Given the description of an element on the screen output the (x, y) to click on. 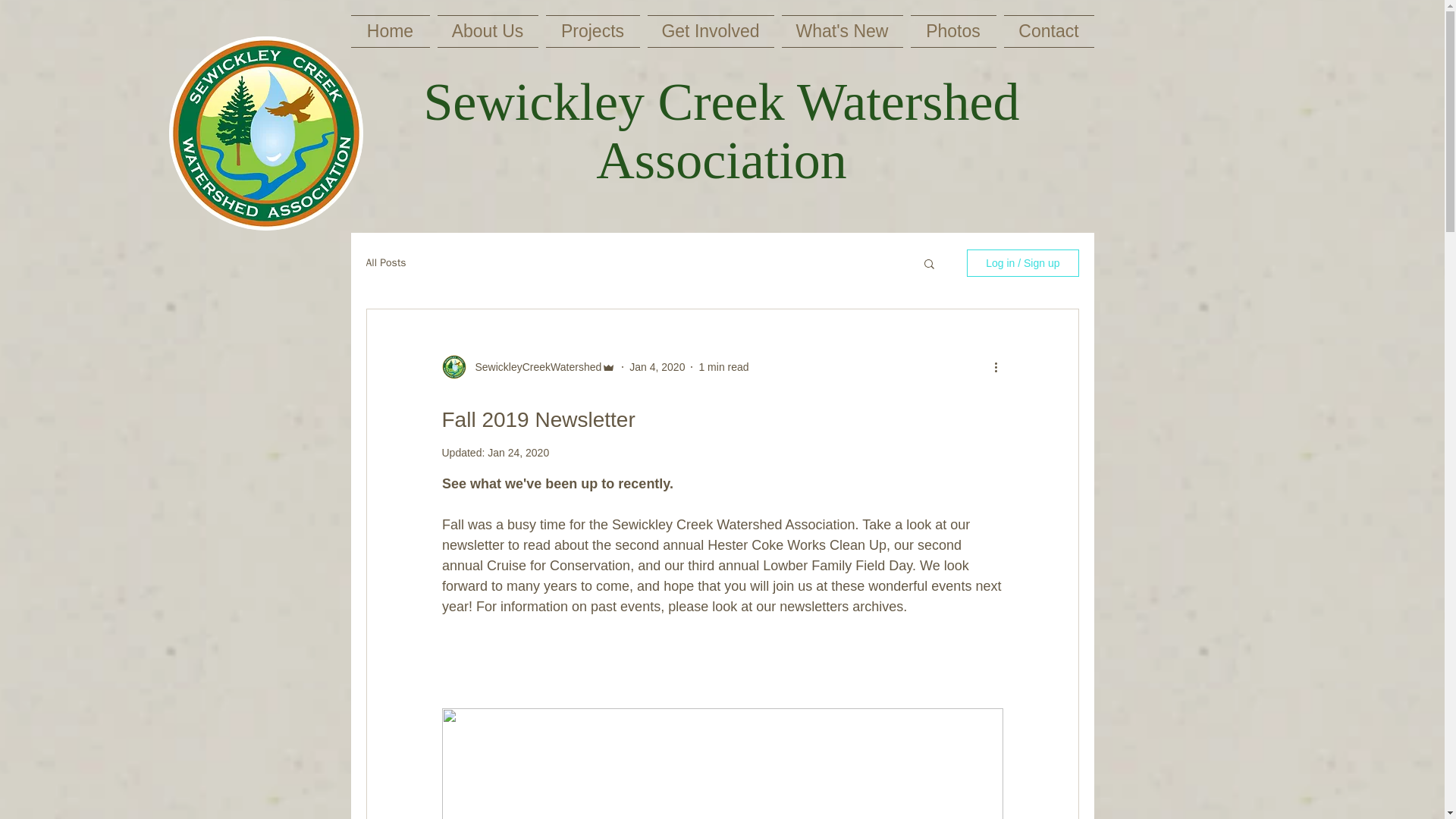
All Posts (385, 263)
Get Involved (710, 31)
1 min read (723, 367)
Jan 4, 2020 (656, 367)
Photos (953, 31)
Home (391, 31)
Contact (1045, 31)
Projects (592, 31)
What's New (842, 31)
SewickleyCreekWatershed (533, 367)
About Us (487, 31)
Jan 24, 2020 (517, 452)
